Given the description of an element on the screen output the (x, y) to click on. 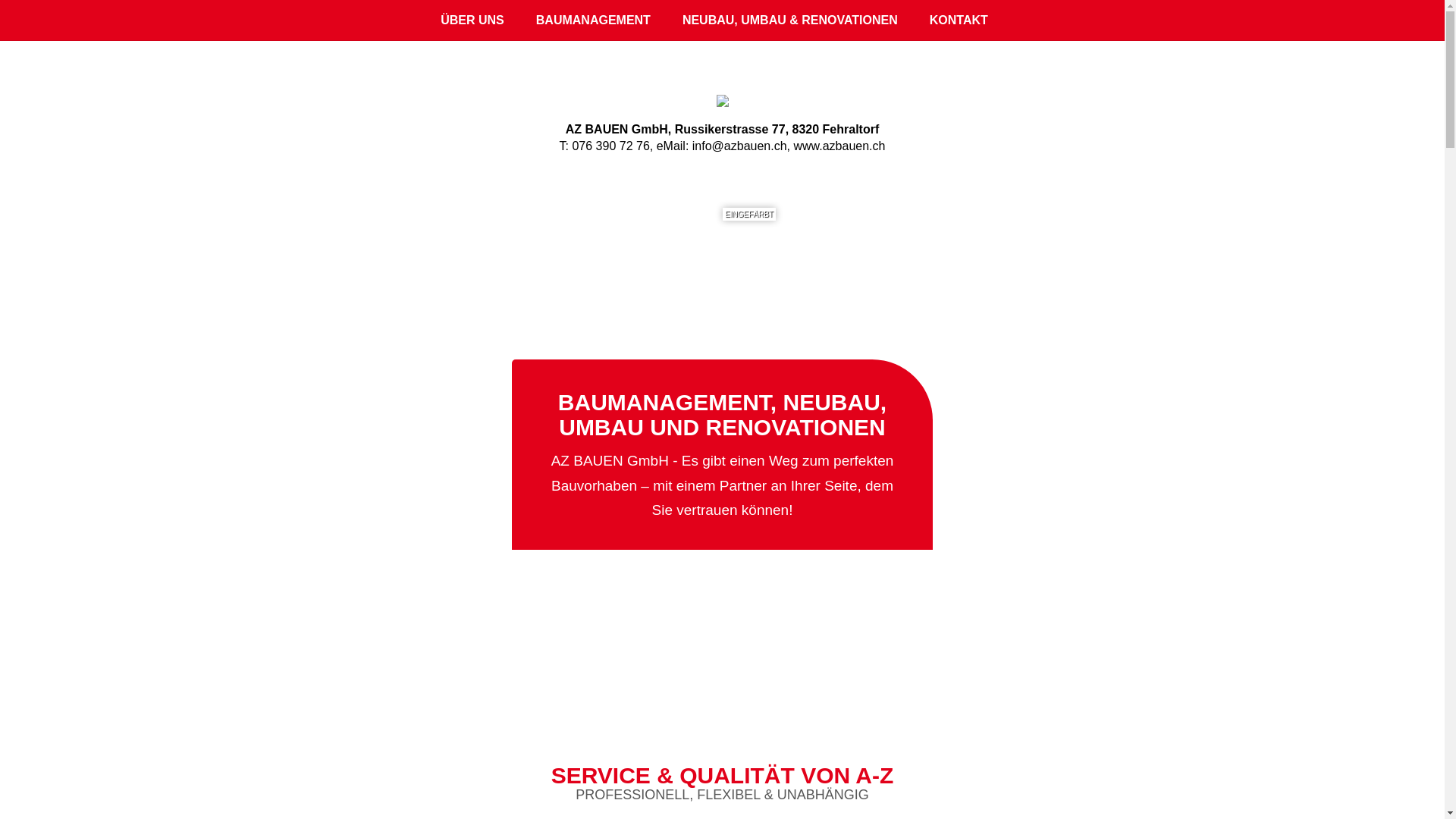
KONTAKT Element type: text (958, 20)
NEUBAU, UMBAU & RENOVATIONEN Element type: text (789, 20)
BAUMANAGEMENT Element type: text (593, 20)
info@azbauen.ch Element type: text (739, 145)
www.azbauen.ch Element type: text (838, 145)
